Given the description of an element on the screen output the (x, y) to click on. 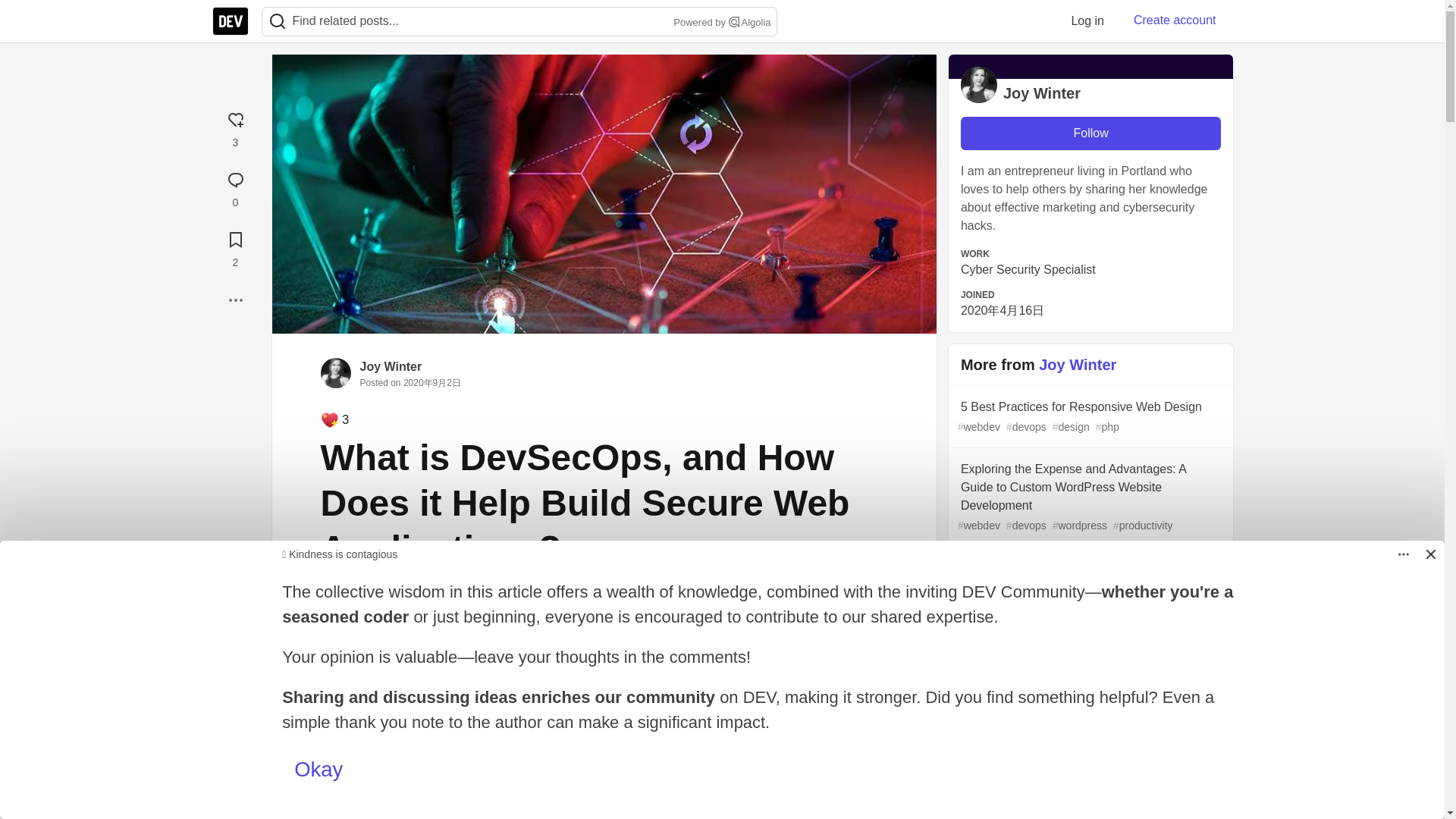
Dropdown menu (1403, 554)
Powered by Algolia (720, 22)
Close (1430, 554)
application security (618, 637)
0 (235, 187)
Joy Winter (390, 366)
Create account (1174, 20)
2 (235, 247)
More... (234, 300)
Log in (1087, 20)
